Given the description of an element on the screen output the (x, y) to click on. 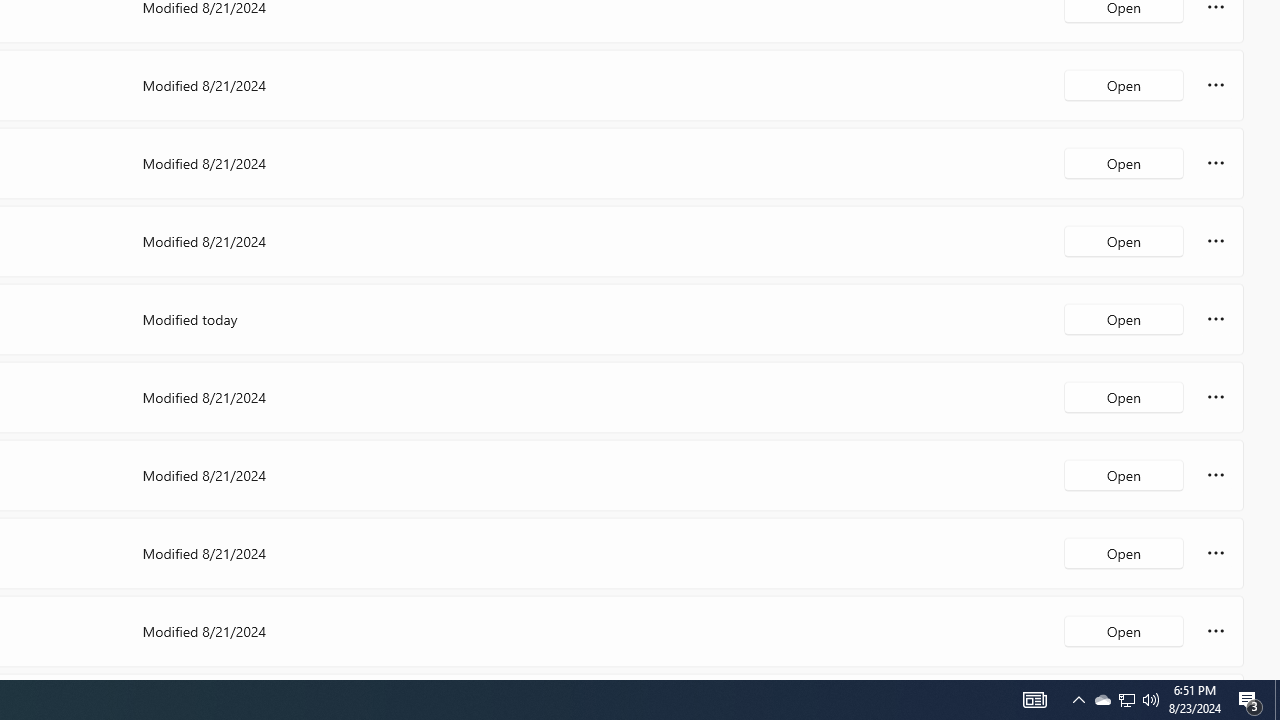
More options (1215, 630)
Open (1123, 630)
